Given the description of an element on the screen output the (x, y) to click on. 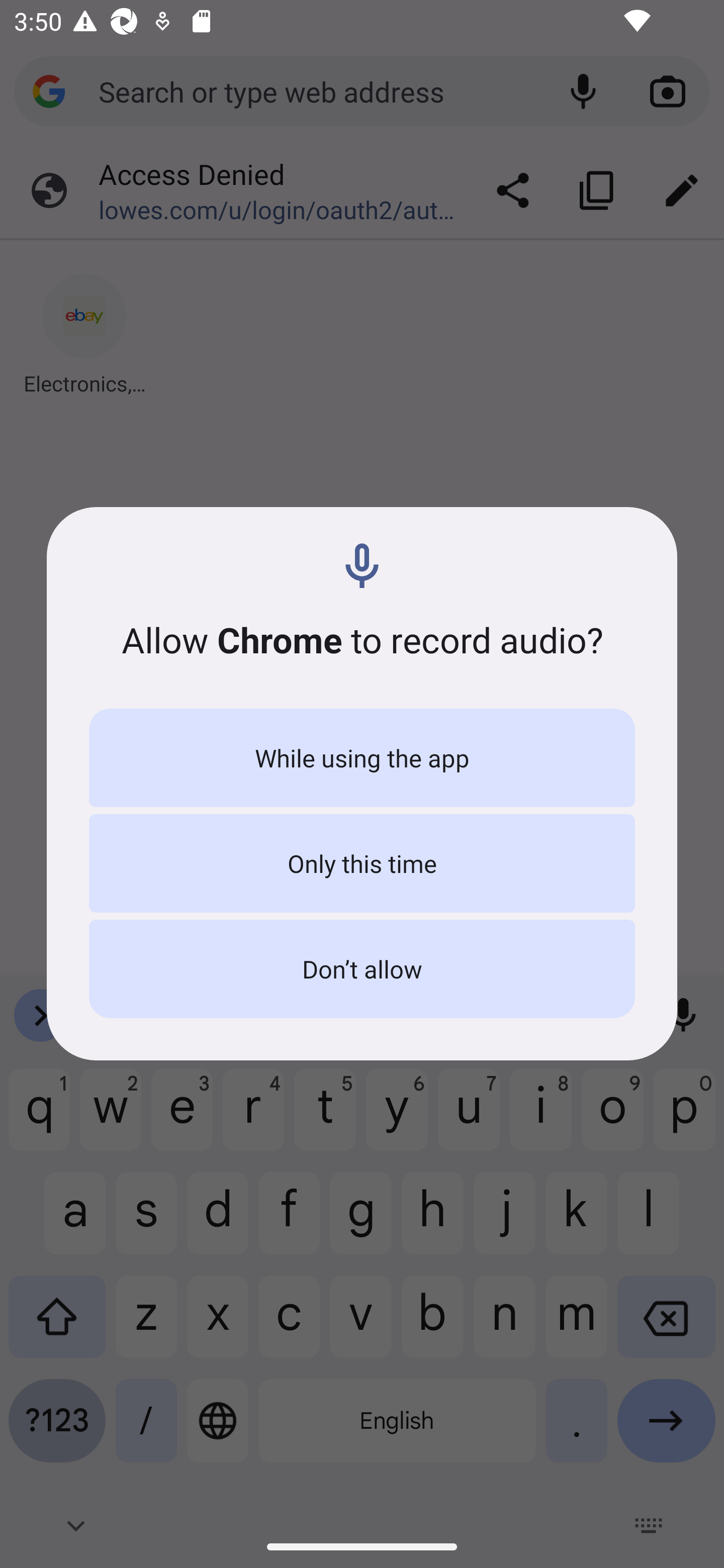
While using the app (361, 757)
Only this time (361, 862)
Don’t allow (361, 968)
